Given the description of an element on the screen output the (x, y) to click on. 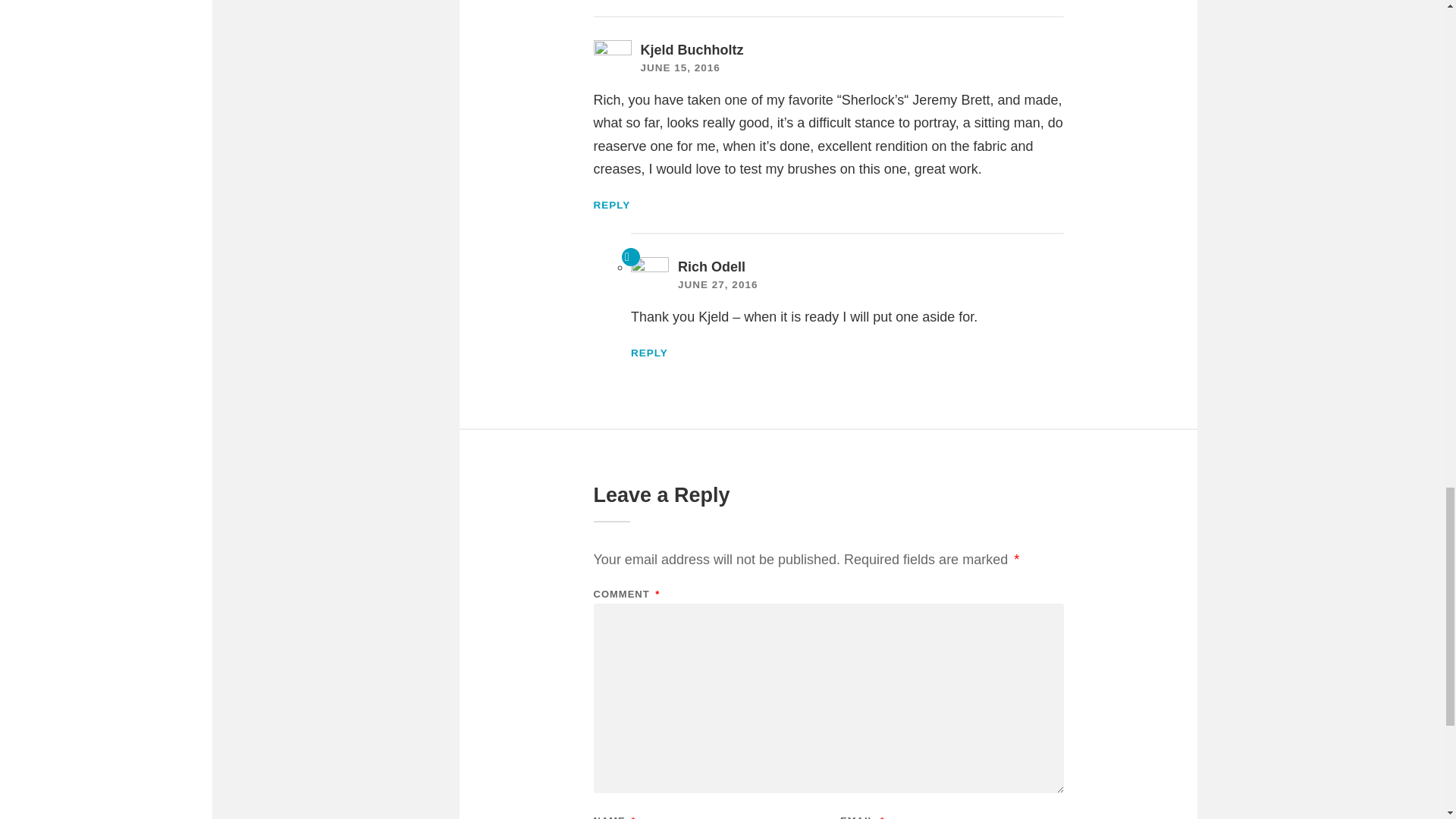
JUNE 15, 2016 (679, 67)
JUNE 27, 2016 (717, 284)
REPLY (611, 204)
REPLY (649, 352)
